Given the description of an element on the screen output the (x, y) to click on. 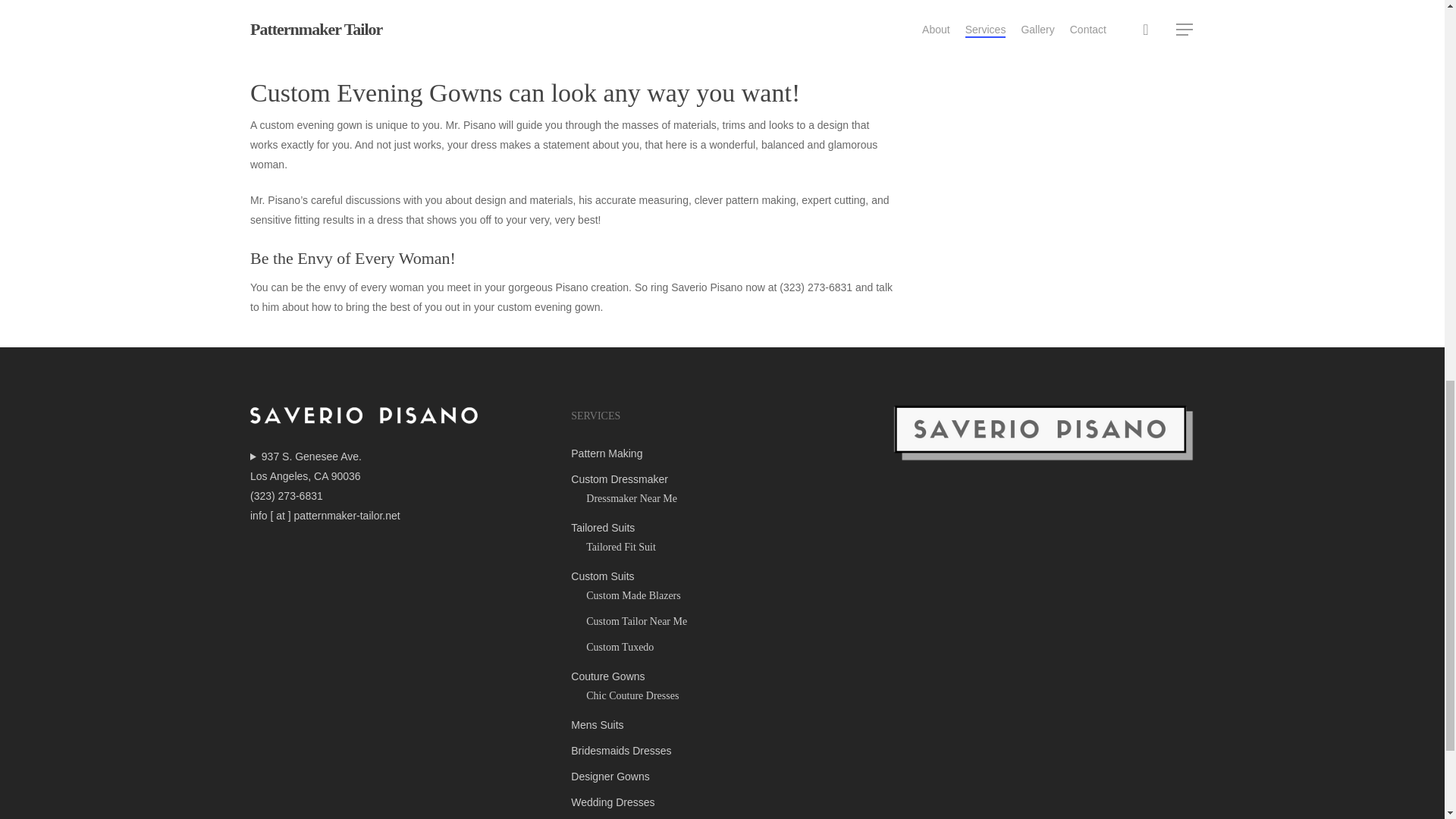
Designer Gowns (721, 776)
Chic Couture Dresses (729, 695)
Custom Dressmaker (721, 478)
Custom Suits (721, 576)
Tailored Suits (721, 527)
Tailored Fit Suit (729, 547)
Mens Suits (721, 724)
Custom Made Blazers (729, 596)
Custom Tuxedo (729, 647)
Bridesmaids Dresses (721, 750)
Custom Tailor Near Me (729, 621)
Dressmaker Near Me (729, 498)
Couture Gowns (721, 676)
Pattern Making (721, 453)
